Given the description of an element on the screen output the (x, y) to click on. 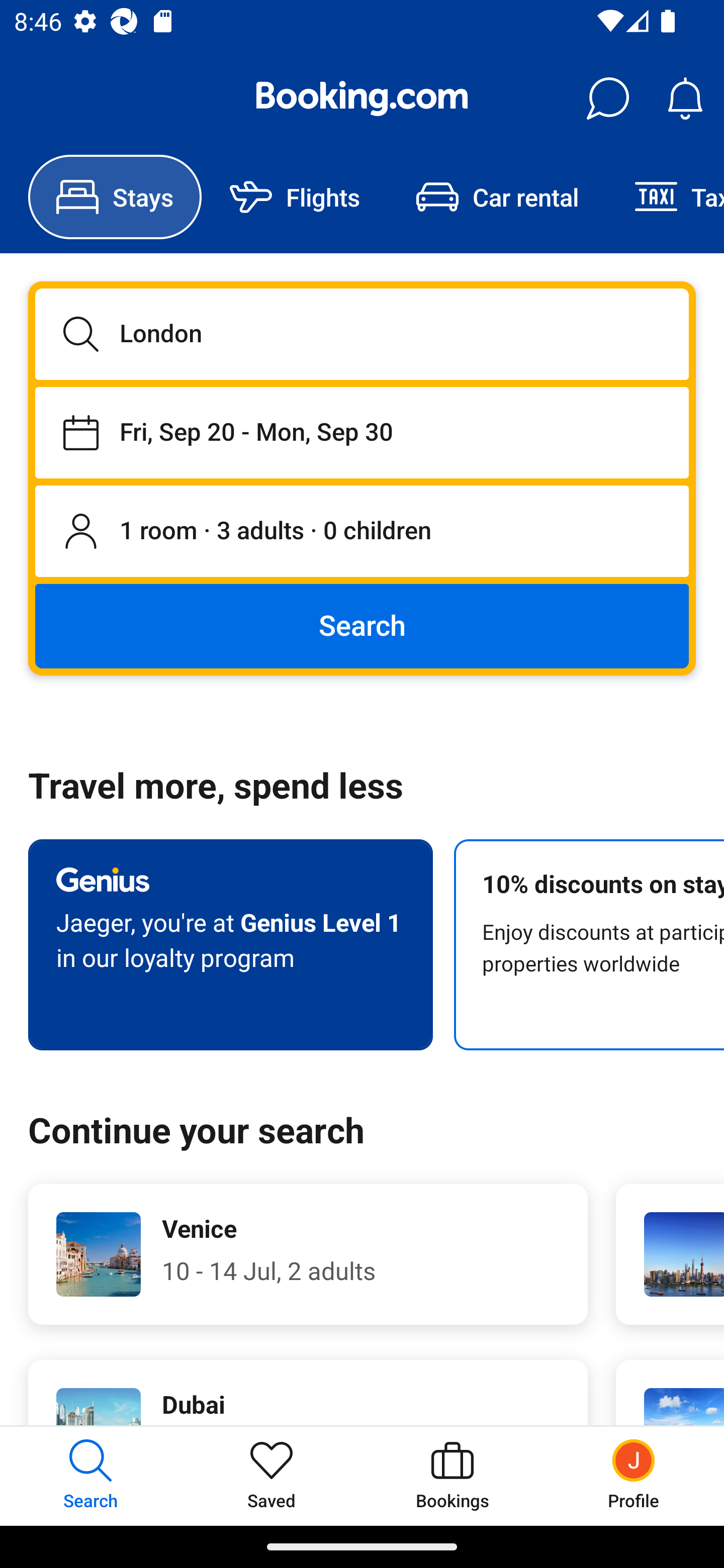
Messages (607, 98)
Notifications (685, 98)
Stays (114, 197)
Flights (294, 197)
Car rental (497, 197)
Taxi (665, 197)
London (361, 333)
Staying from Fri, Sep 20 until Mon, Sep 30 (361, 432)
1 room, 3 adults, 0 children (361, 531)
Search (361, 625)
Venice 10 - 14 Jul, 2 adults (307, 1253)
Saved (271, 1475)
Bookings (452, 1475)
Profile (633, 1475)
